Given the description of an element on the screen output the (x, y) to click on. 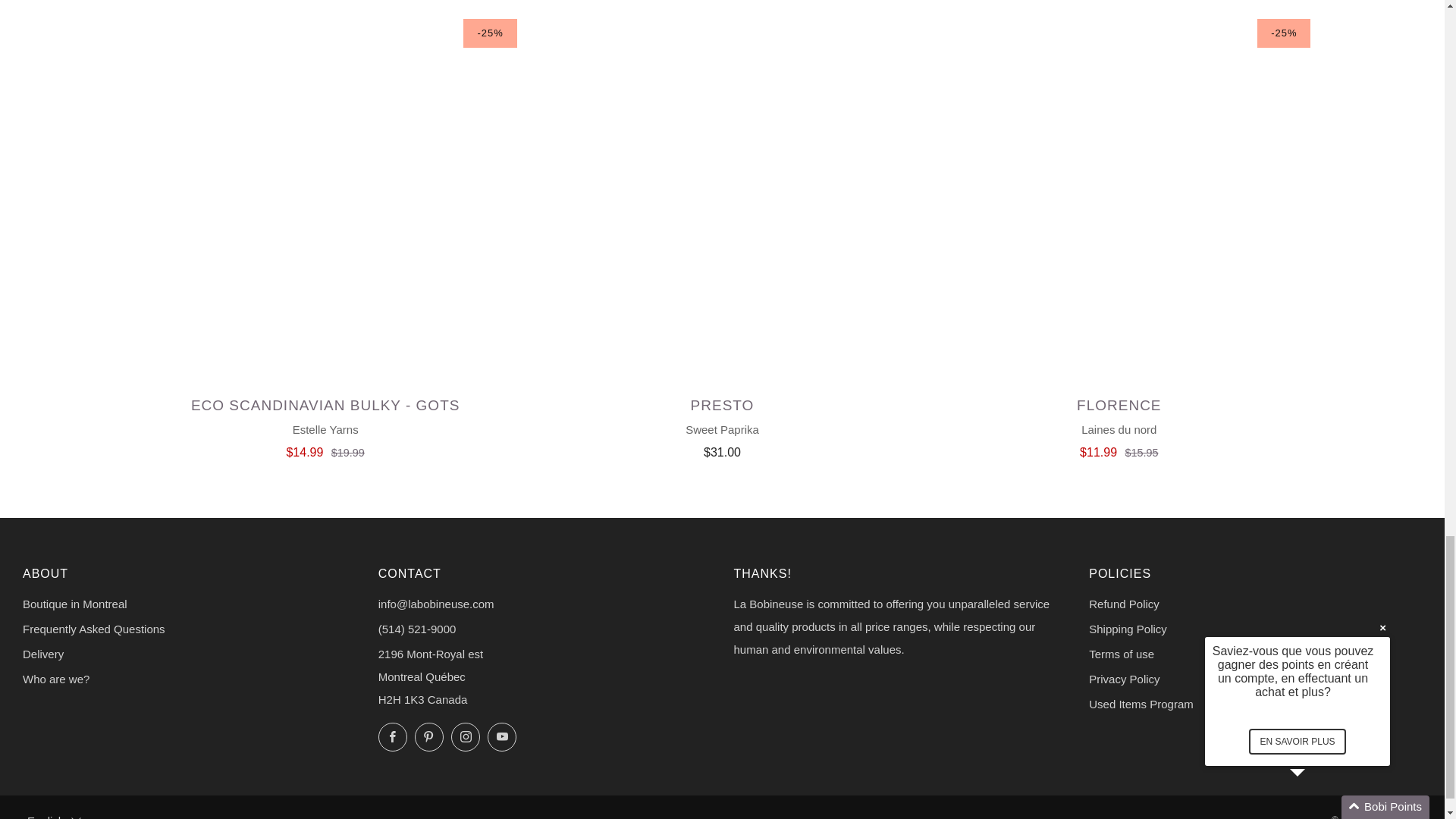
Eco Scandinavian Bulky - GOTS (325, 425)
Florence (1118, 425)
Presto (721, 425)
